Given the description of an element on the screen output the (x, y) to click on. 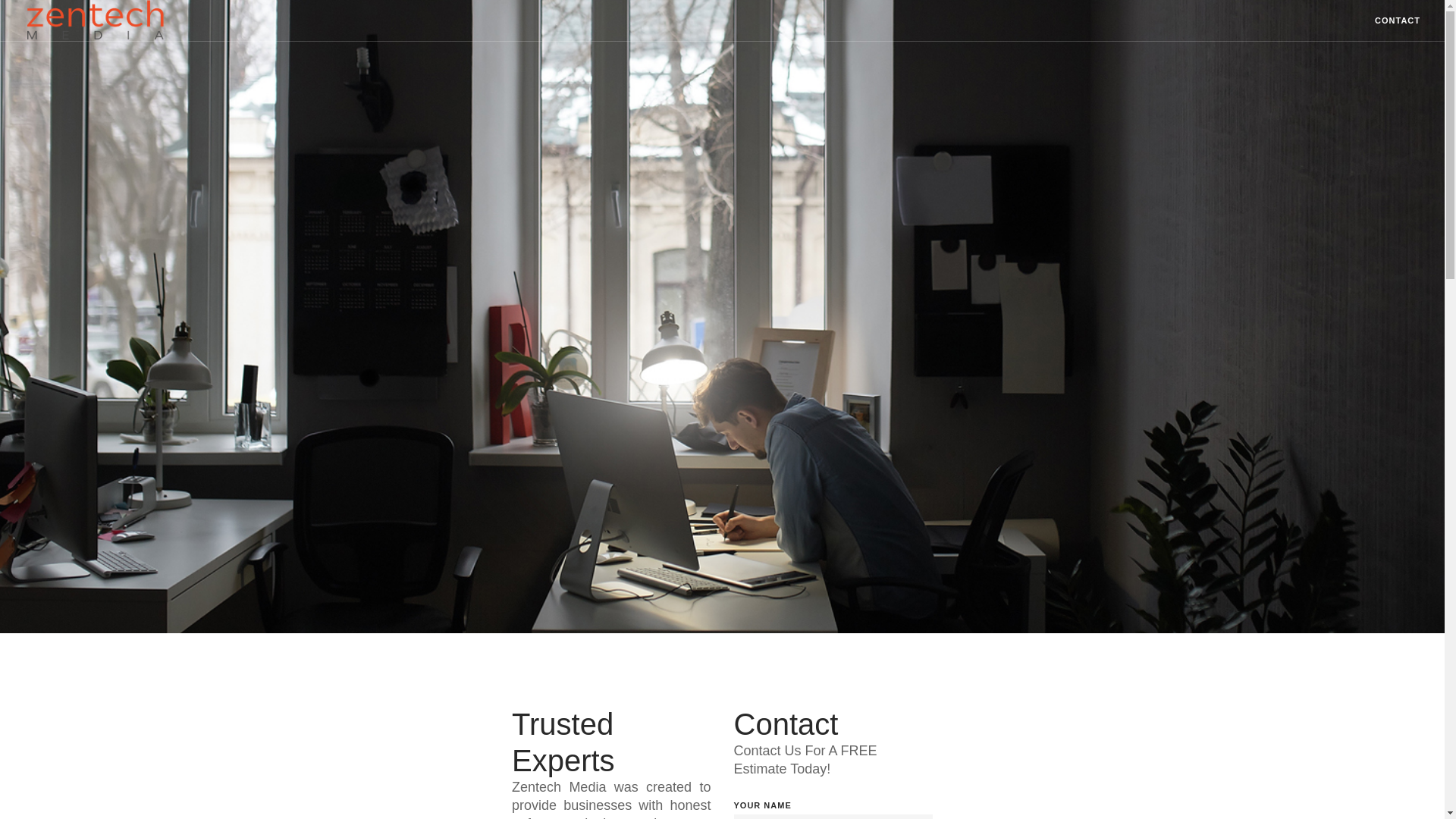
CONTACT (1397, 21)
